Given the description of an element on the screen output the (x, y) to click on. 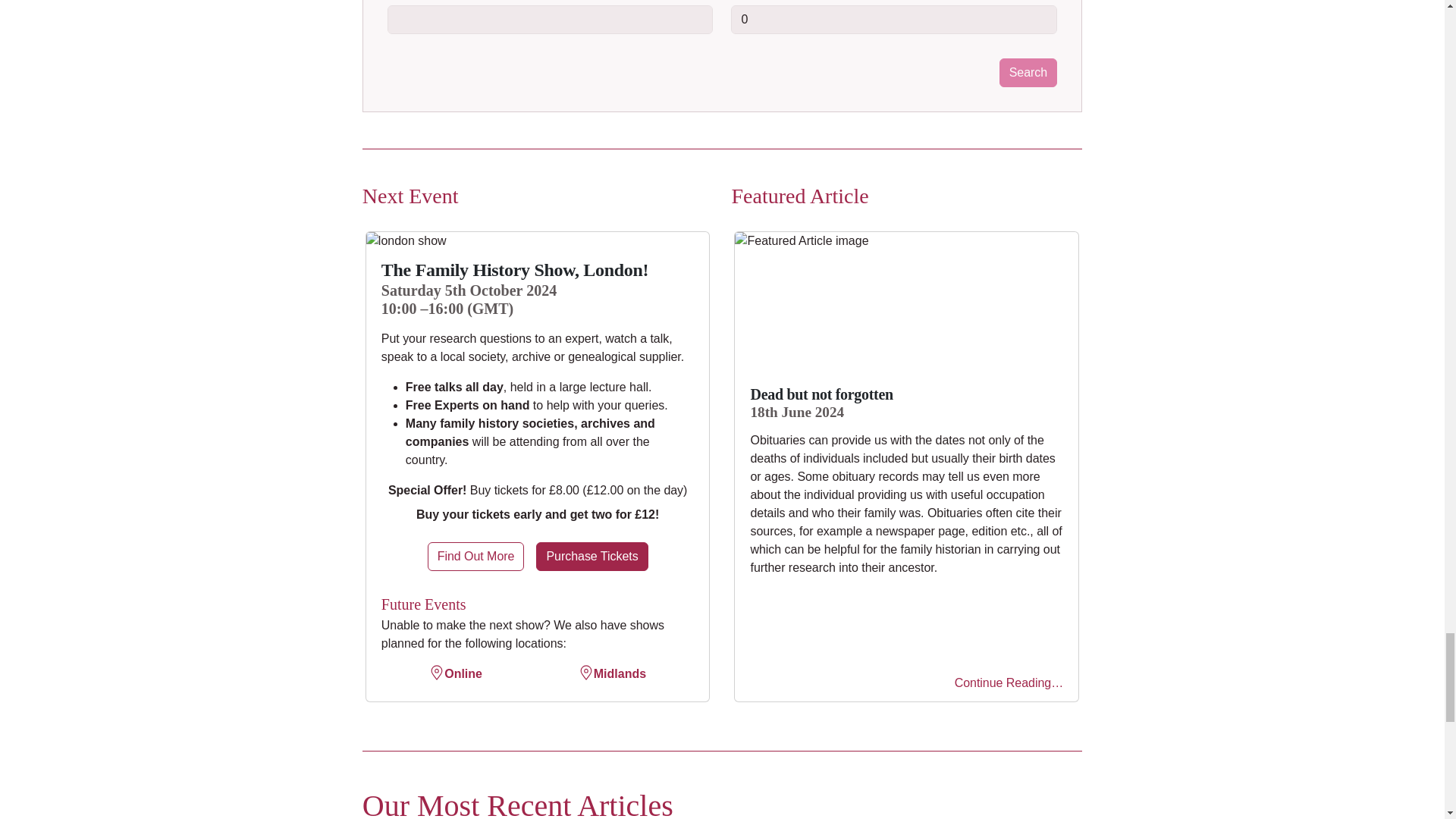
Search (1027, 72)
Search (1027, 72)
